Given the description of an element on the screen output the (x, y) to click on. 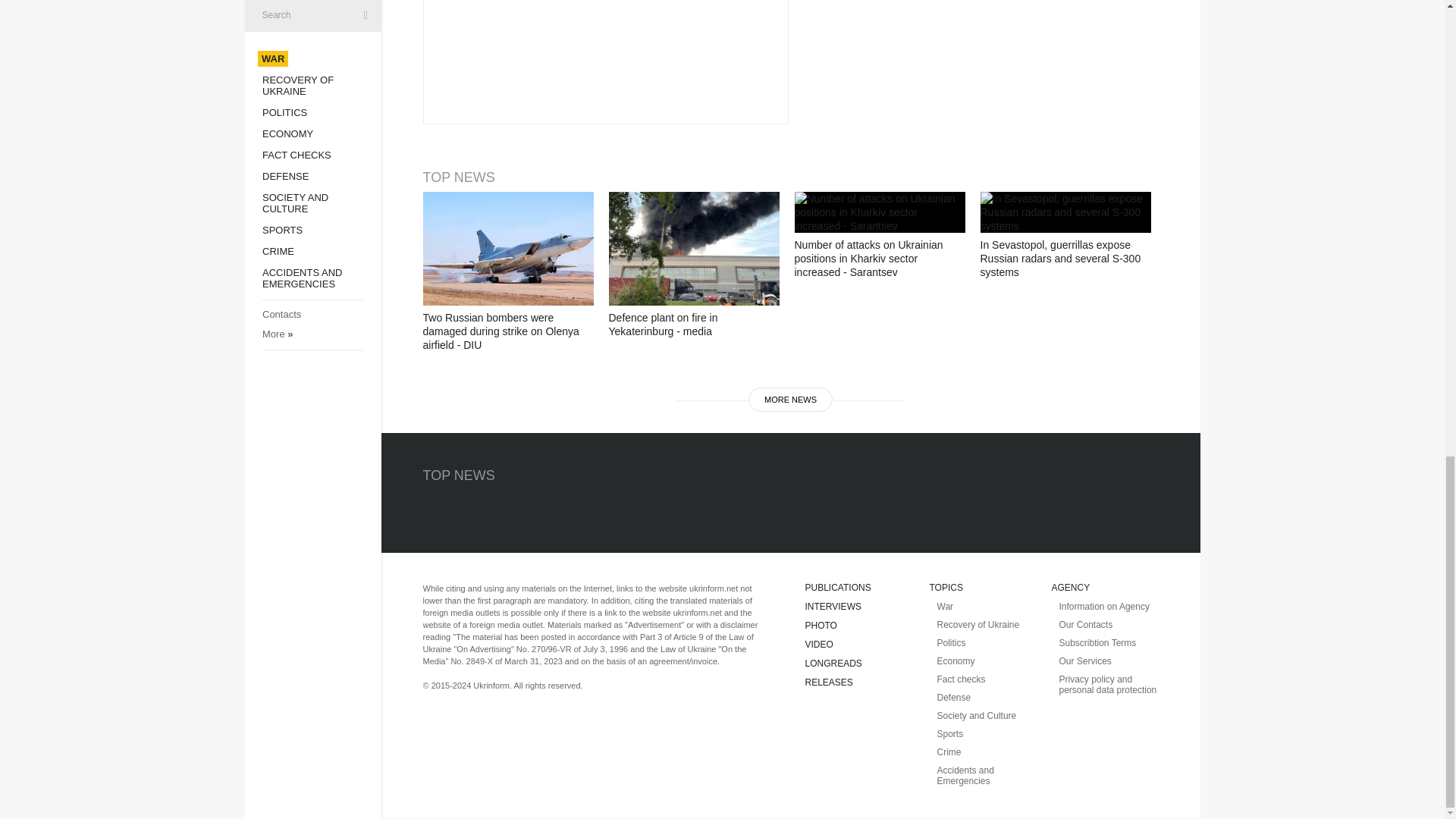
Defence plant on fire in Yekaterinburg - media (693, 248)
